Given the description of an element on the screen output the (x, y) to click on. 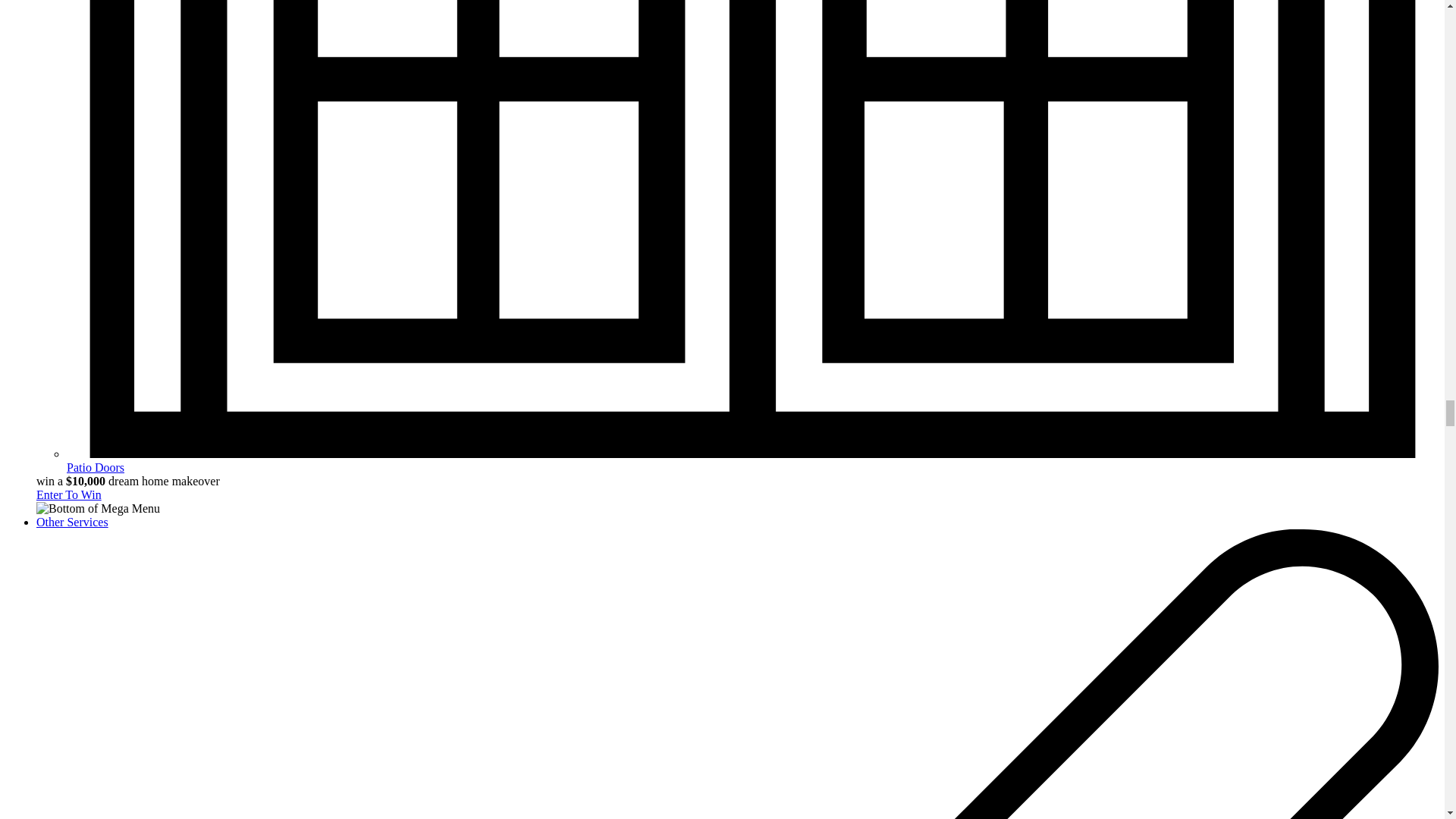
Enter To Win (68, 494)
Other Services (71, 521)
